Given the description of an element on the screen output the (x, y) to click on. 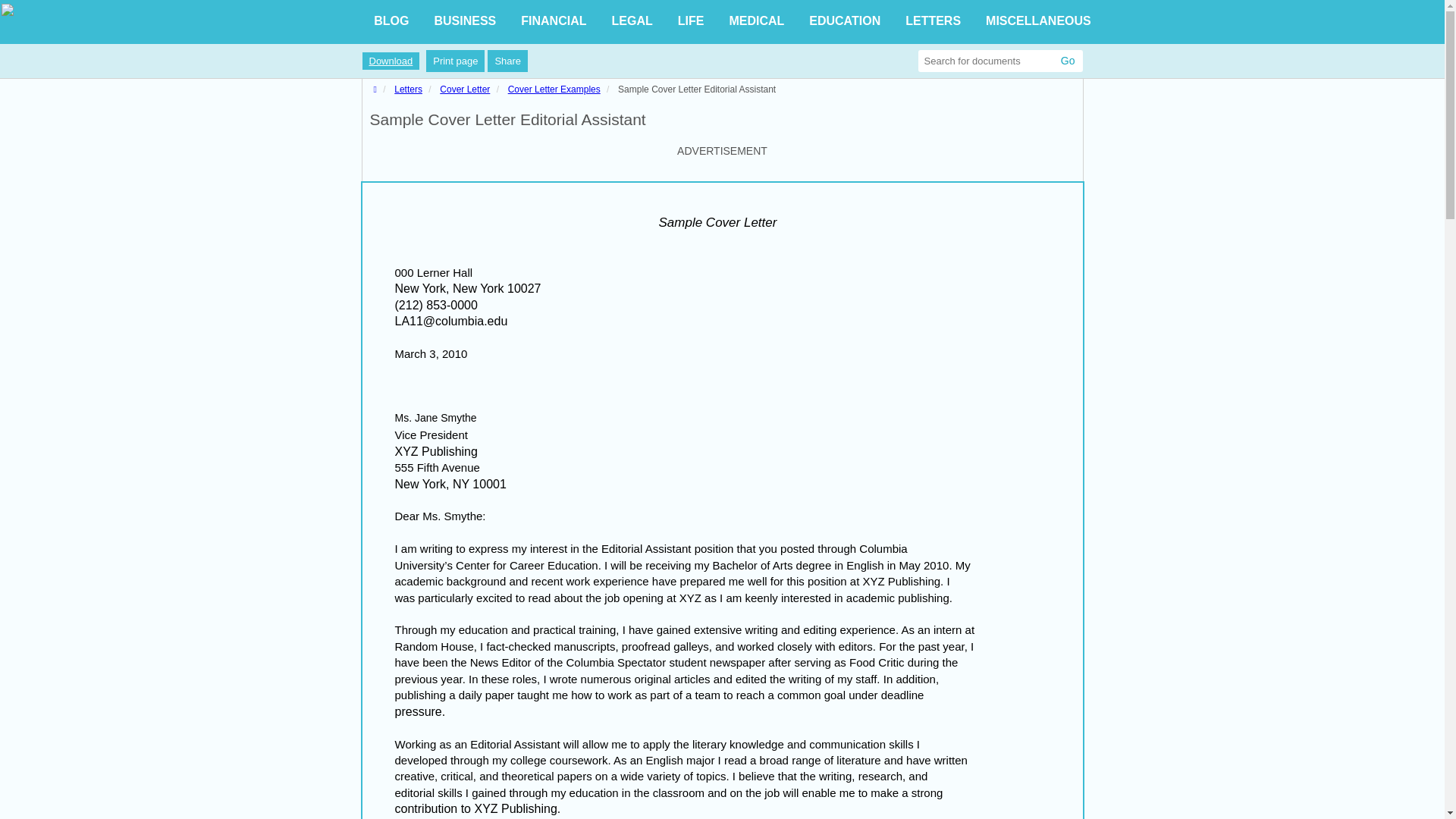
Cover Letter (464, 89)
Letters (408, 89)
Cover Letter Examples (553, 89)
Cover Letter (464, 89)
Cover Letter Examples (553, 89)
Letters (408, 89)
